Given the description of an element on the screen output the (x, y) to click on. 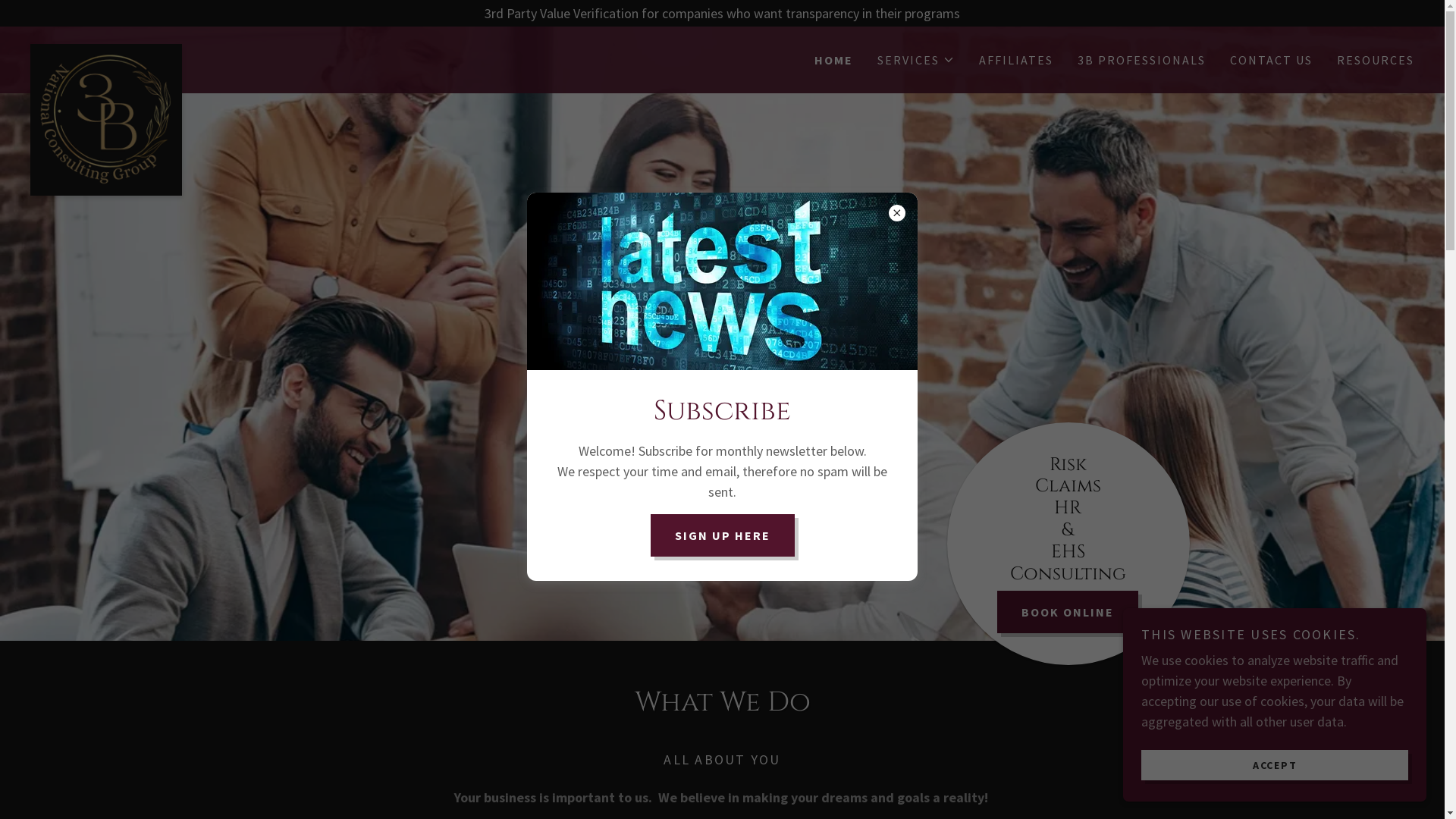
AFFILIATES Element type: text (1015, 59)
BOOK ONLINE Element type: text (1067, 611)
ACCEPT Element type: text (1274, 764)
SERVICES Element type: text (915, 59)
CONTACT US Element type: text (1271, 59)
RESOURCES Element type: text (1375, 59)
3B National Consulting Group Element type: hover (203, 50)
SIGN UP HERE Element type: text (722, 535)
3B PROFESSIONALS Element type: text (1141, 59)
HOME Element type: text (833, 59)
